Given the description of an element on the screen output the (x, y) to click on. 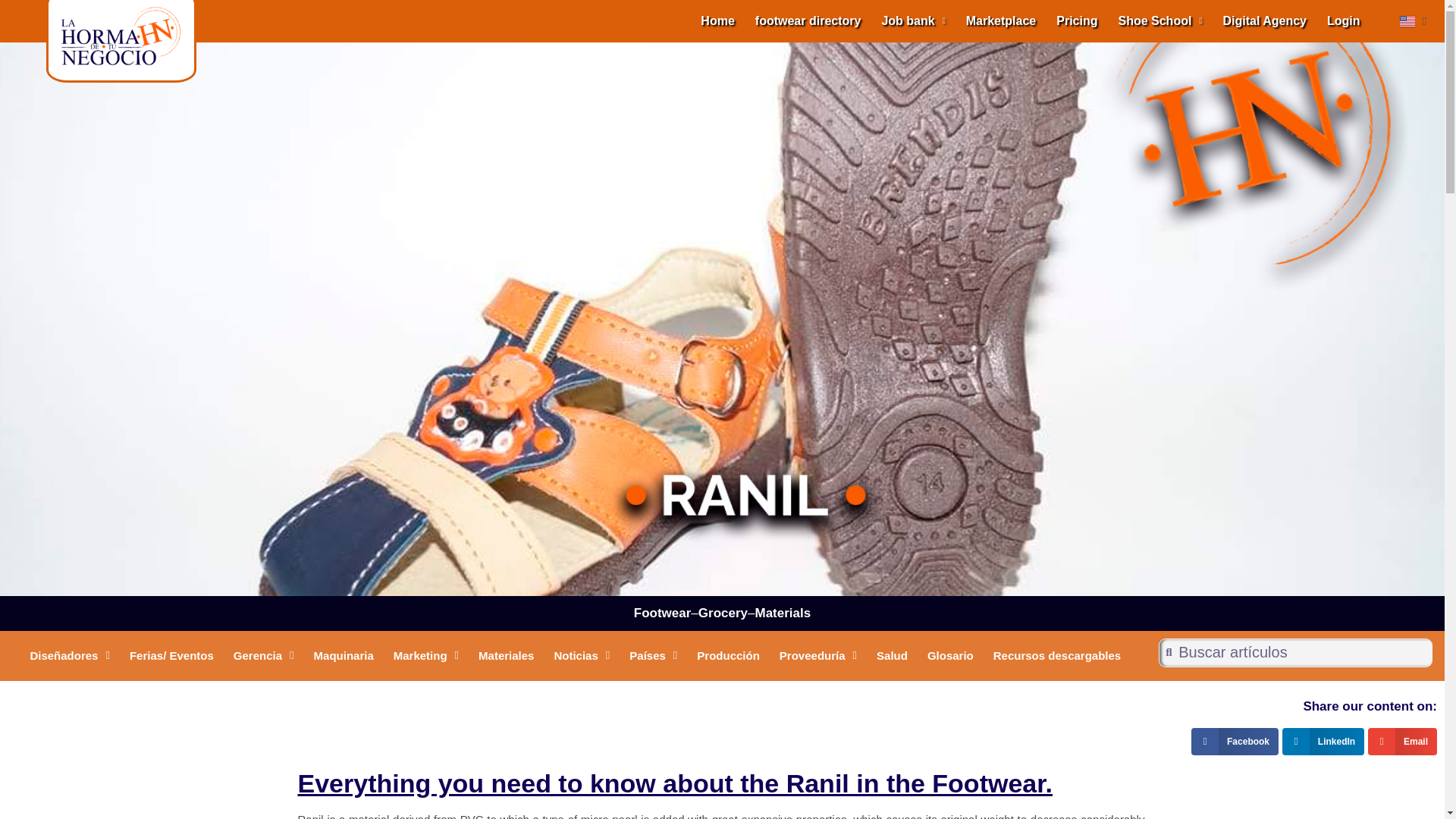
Digital Agency (1264, 21)
Search (1356, 376)
Pricing (1076, 21)
Home (716, 21)
Shoe School (1159, 21)
footwear directory (807, 21)
Search (1301, 651)
Login (1343, 21)
Job bank (912, 21)
Marketplace (1000, 21)
